Given the description of an element on the screen output the (x, y) to click on. 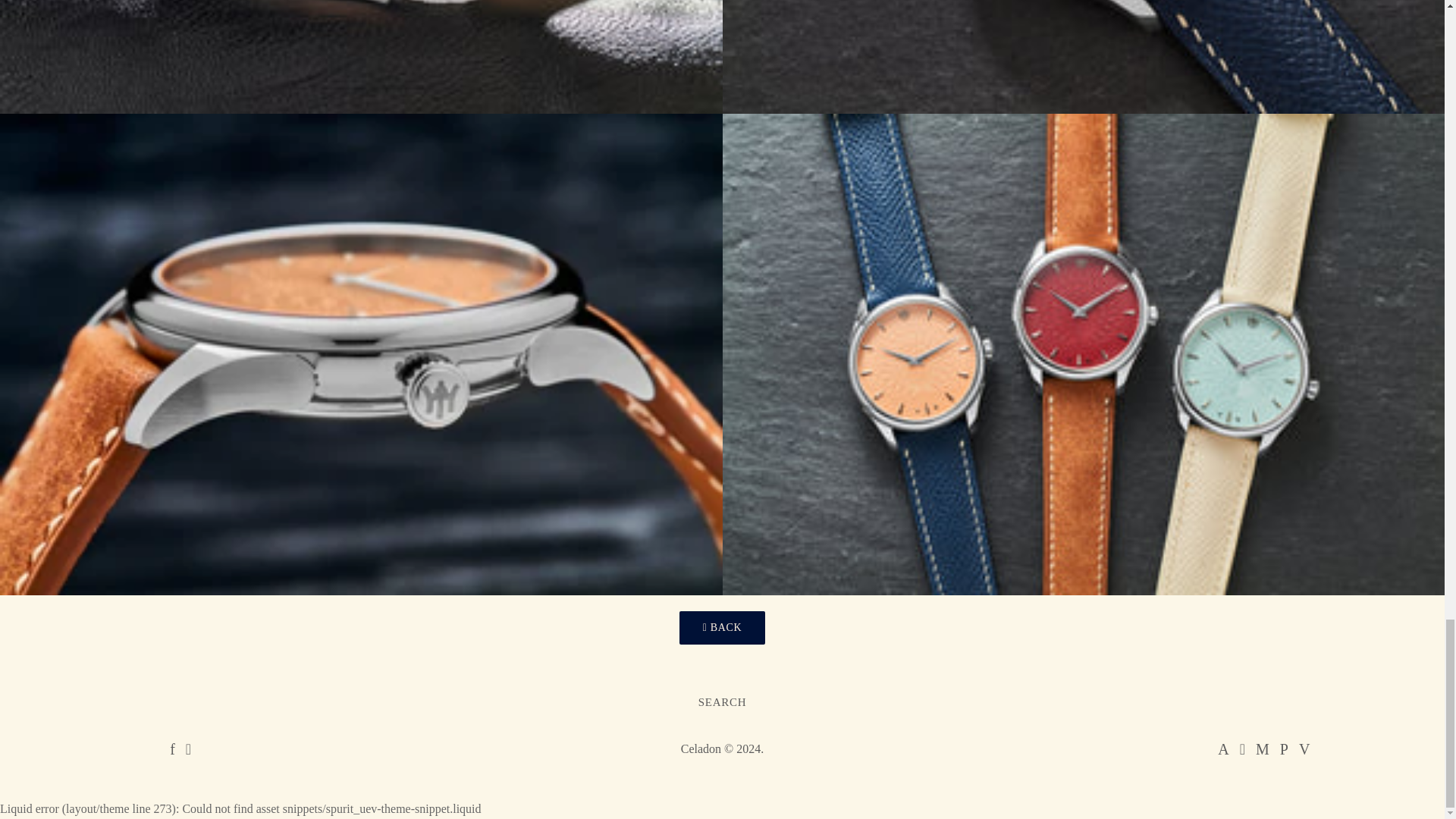
SEARCH (721, 702)
BACK (722, 627)
Celadon (700, 748)
